Given the description of an element on the screen output the (x, y) to click on. 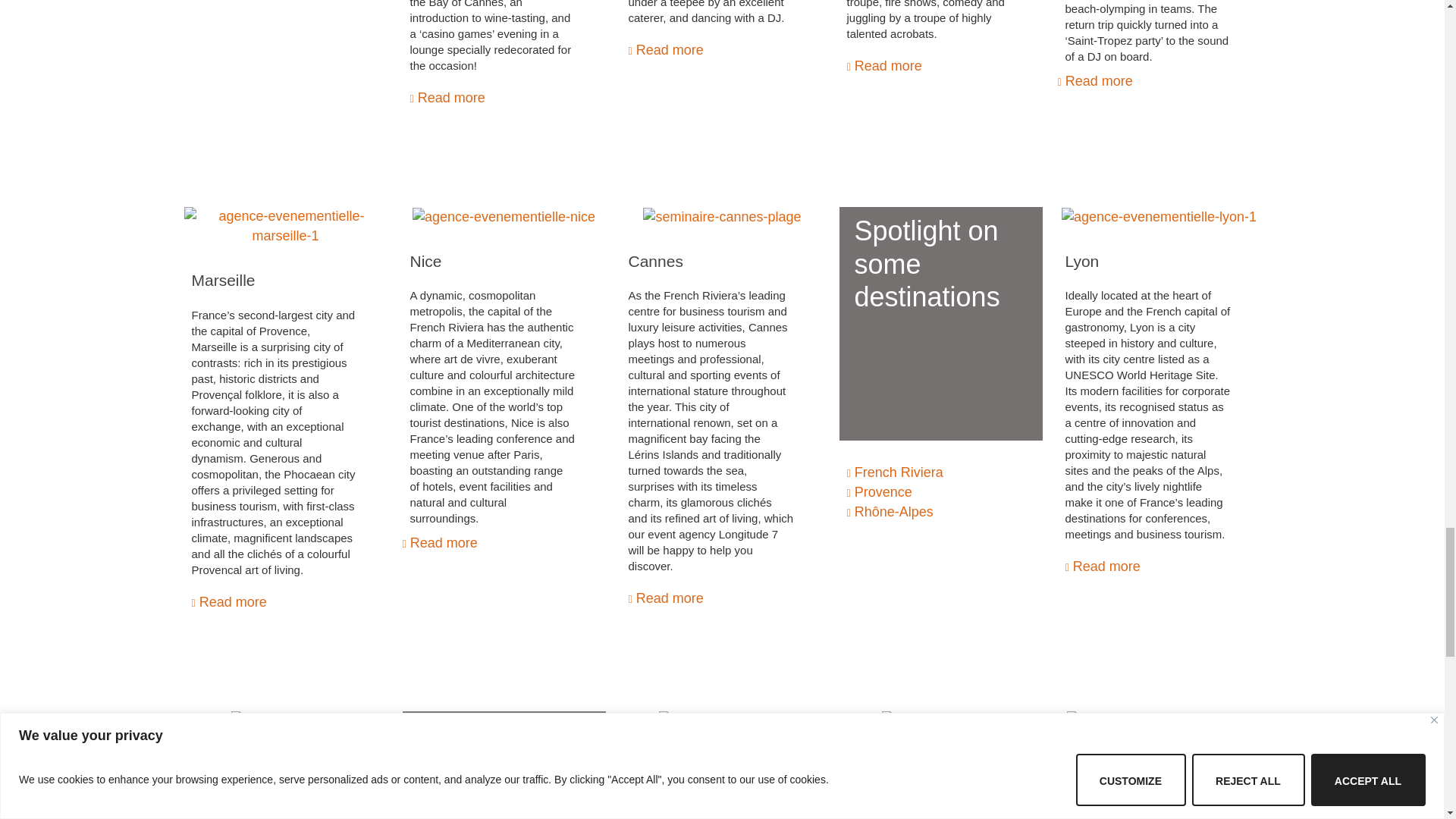
voile-yachting-1 (285, 721)
seminaire-cannes-plage (721, 217)
agence-evenementielle-nice (503, 217)
sports-eau-vive-1 (940, 721)
agence-evenementielle-marseille-1 (285, 226)
rallye-voitures-collection-2cv (1158, 721)
chasse-au-tresor-1 (722, 721)
agence-evenementielle-lyon-1 (1158, 217)
